Given the description of an element on the screen output the (x, y) to click on. 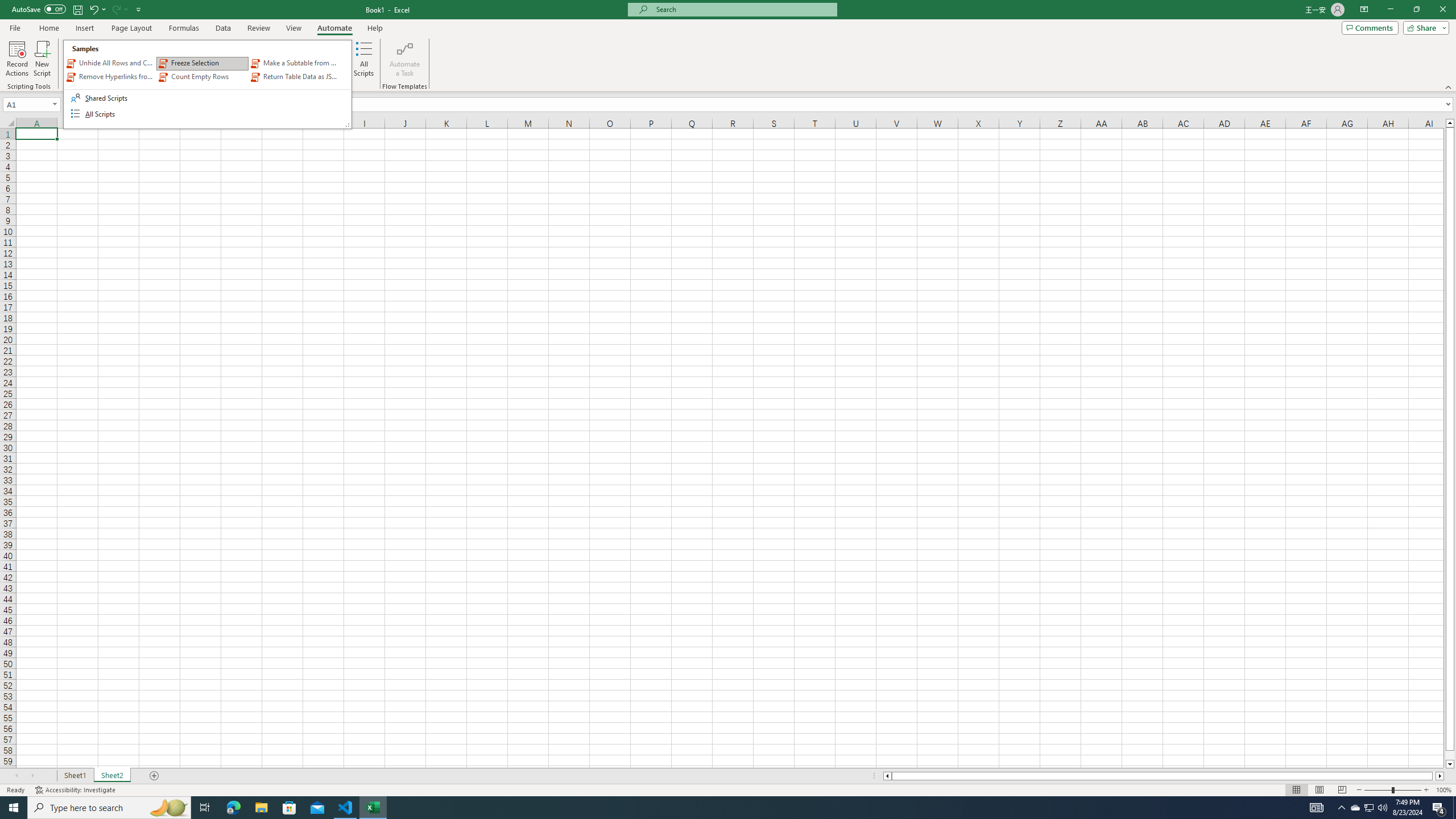
Name Box (27, 104)
Column right (1440, 775)
AutoSave (38, 9)
Formulas (184, 28)
Class: Net UI Tool Window (207, 84)
